Given the description of an element on the screen output the (x, y) to click on. 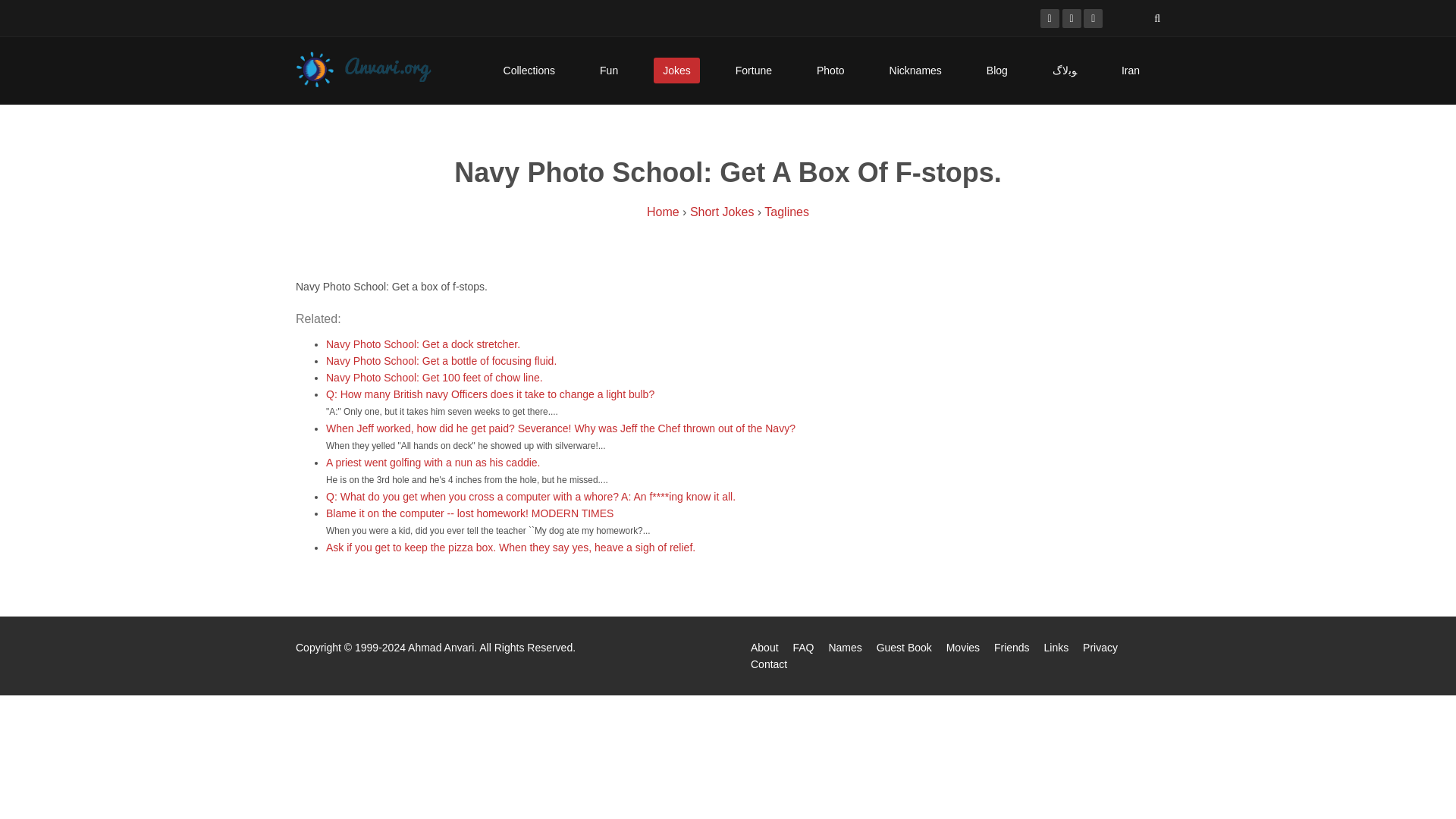
Photo (830, 70)
A List of Favorite Movies (962, 647)
Movies (962, 647)
Have Some Fortune Cookies (753, 70)
Navy Photo School: Get 100 feet of chow line. (434, 377)
Collections of Cool Stuff (529, 70)
List of Friends (1011, 647)
Cool Categorized Links to Other Sites (1055, 647)
Privacy (1100, 647)
FAQ (802, 647)
Iran (1130, 70)
About Ahmad Anvari (764, 647)
Privacy Policy (1100, 647)
Photos (830, 70)
Guest Book (903, 647)
